Given the description of an element on the screen output the (x, y) to click on. 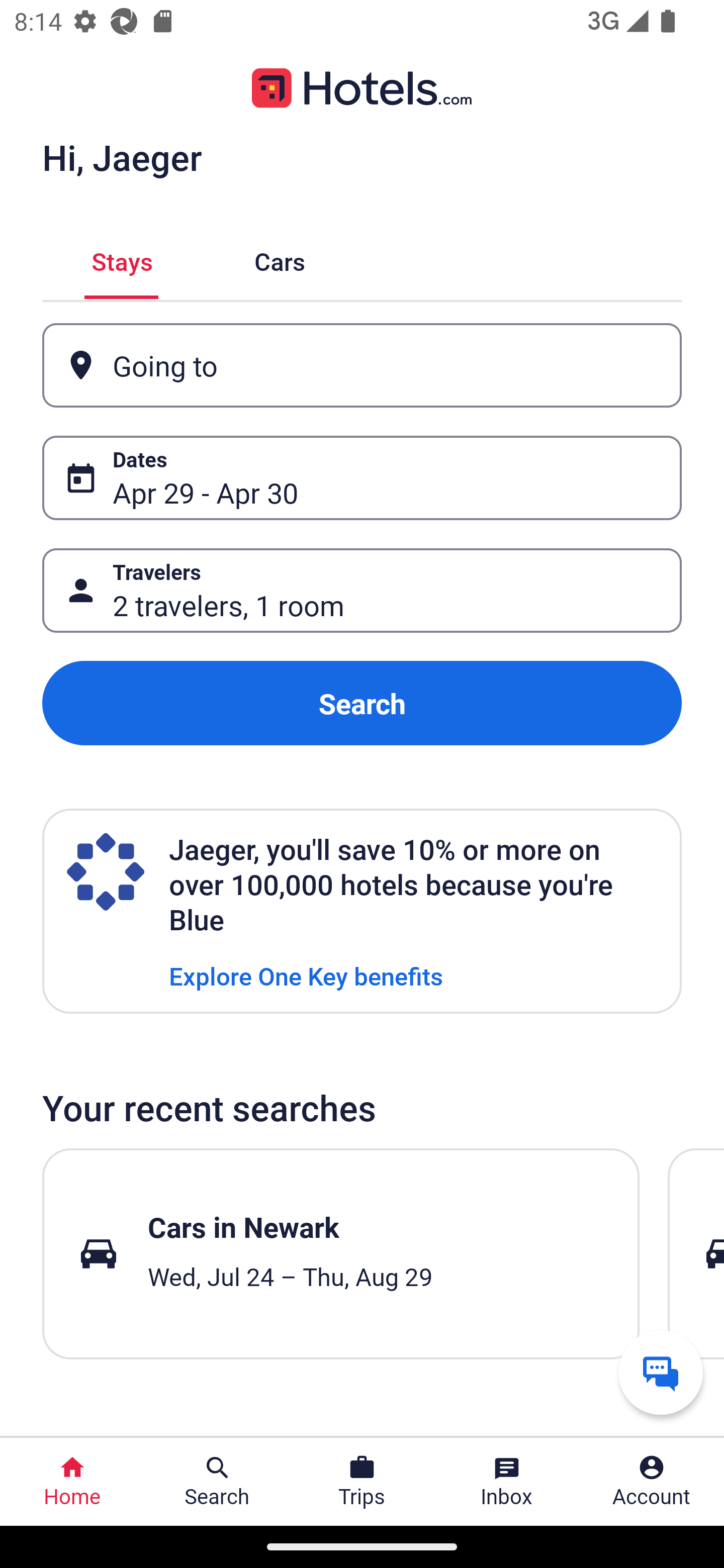
Hi, Jaeger (121, 156)
Cars (279, 259)
Going to Button (361, 365)
Dates Button Apr 29 - Apr 30 (361, 477)
Travelers Button 2 travelers, 1 room (361, 590)
Search (361, 702)
Get help from a virtual agent (660, 1371)
Search Search Button (216, 1481)
Trips Trips Button (361, 1481)
Inbox Inbox Button (506, 1481)
Account Profile. Button (651, 1481)
